Given the description of an element on the screen output the (x, y) to click on. 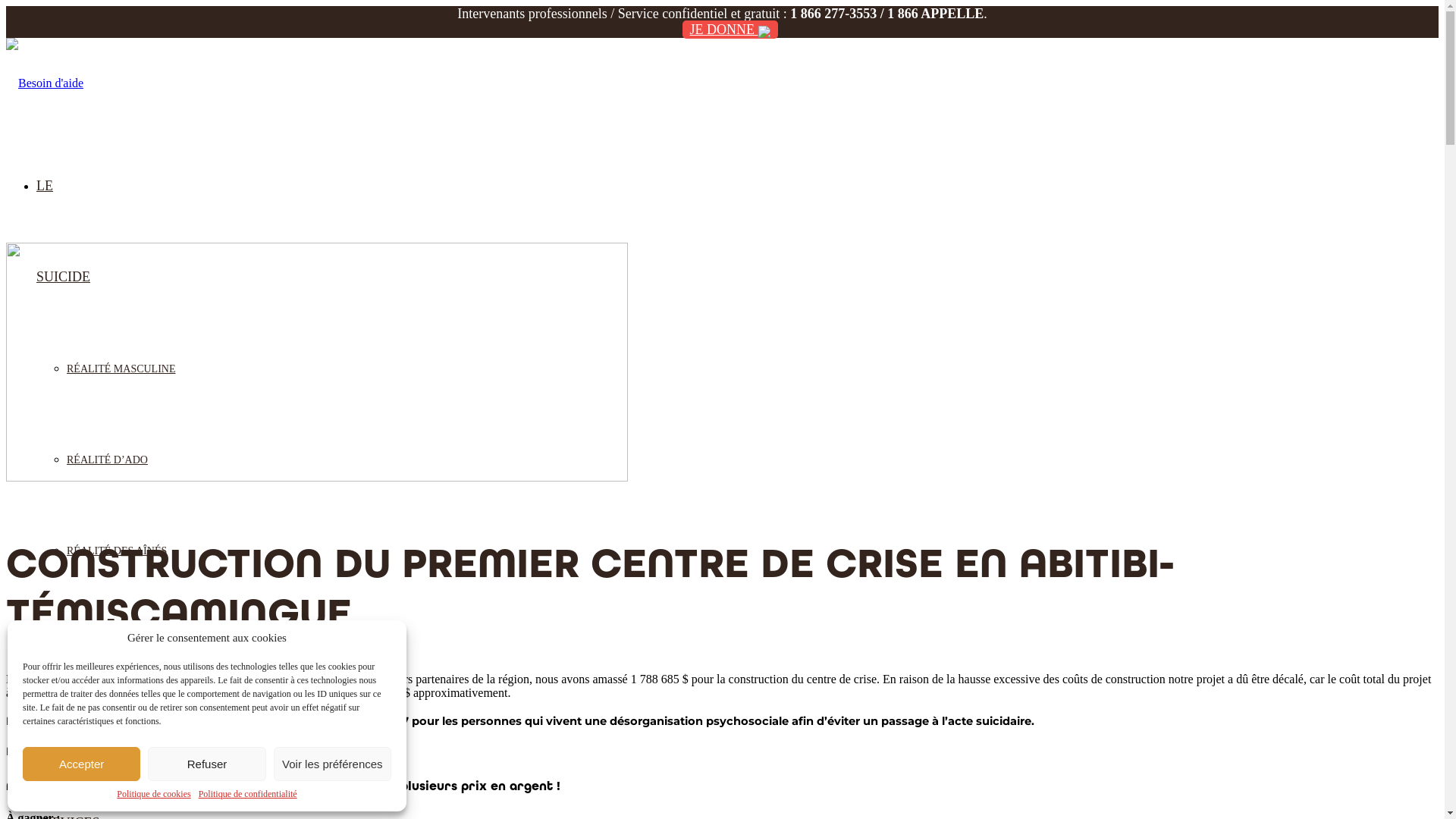
Refuser Element type: text (206, 763)
bandeau Facebook campagne (2) Element type: hover (316, 361)
LE
SUICIDE Element type: text (63, 215)
JE DONNE Element type: text (730, 29)
Accepter Element type: text (81, 763)
Politique de cookies Element type: text (153, 794)
NOTRE APPROCHE Element type: text (113, 725)
